Given the description of an element on the screen output the (x, y) to click on. 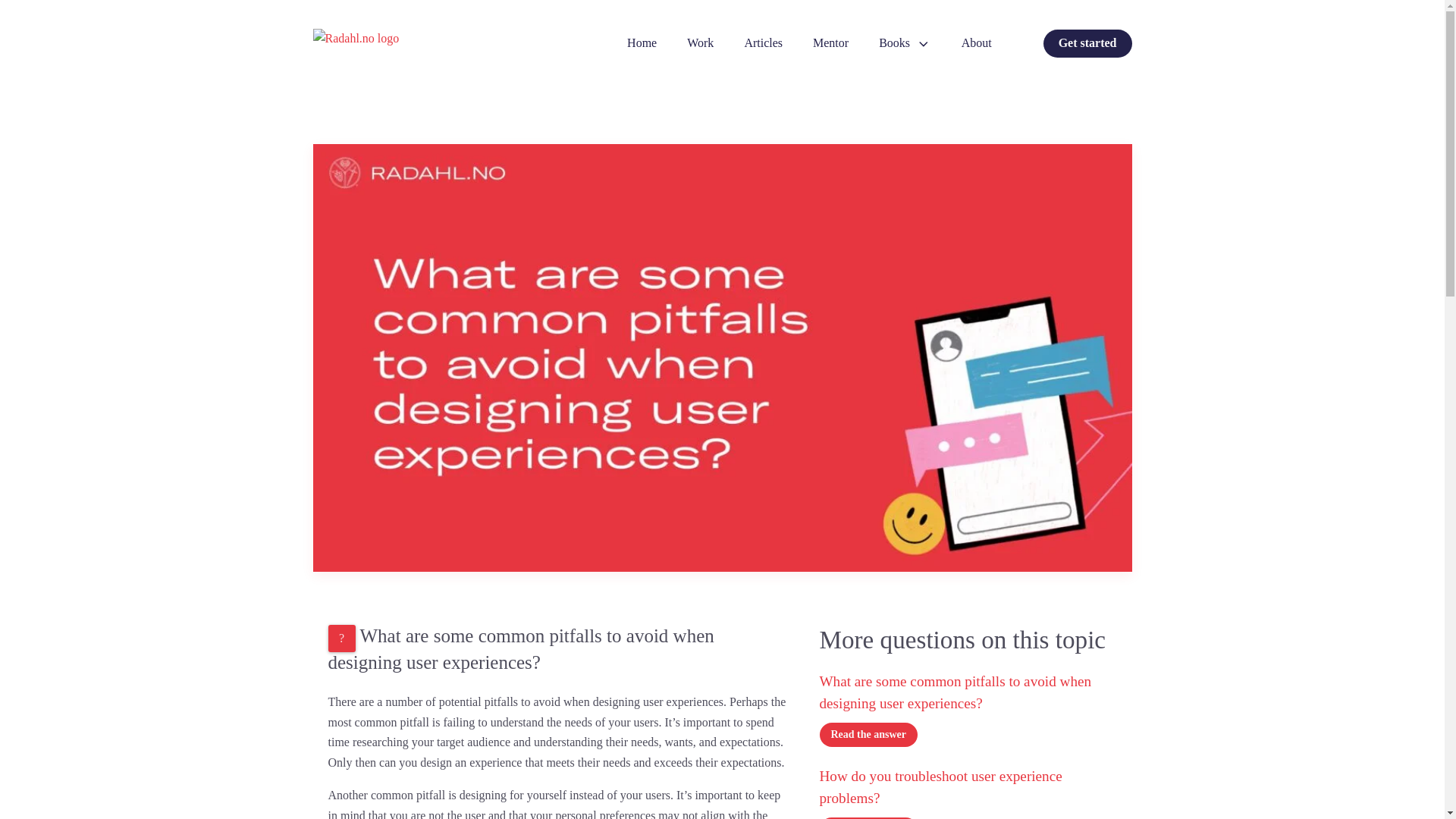
Read the answer (867, 818)
Read the answer (867, 734)
How do you troubleshoot user experience problems? (967, 790)
Get started (1087, 43)
Books (905, 43)
